Given the description of an element on the screen output the (x, y) to click on. 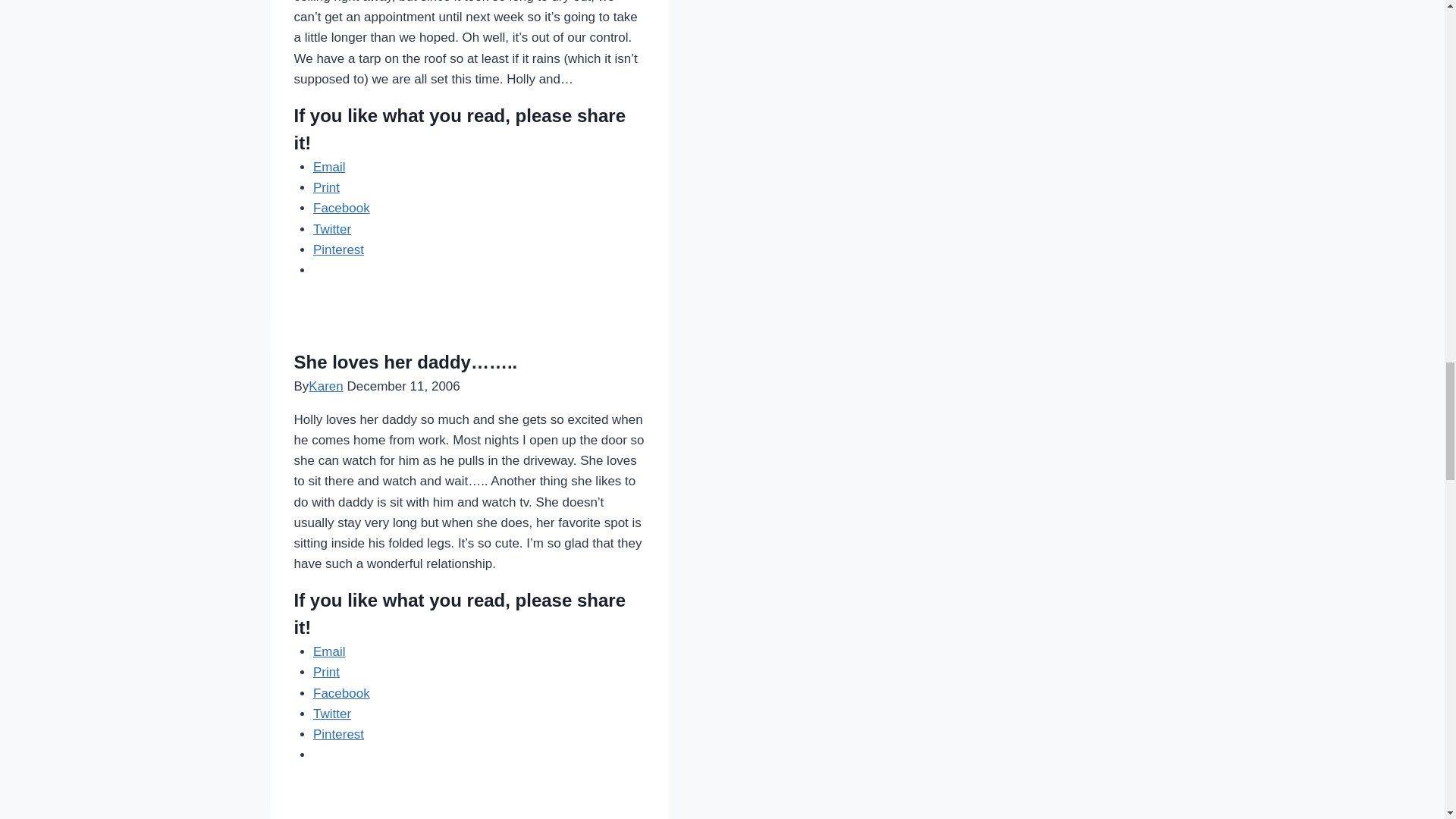
Twitter (331, 228)
Click to email a link to a friend (329, 166)
Email (329, 166)
Facebook (341, 207)
Print (326, 187)
